Given the description of an element on the screen output the (x, y) to click on. 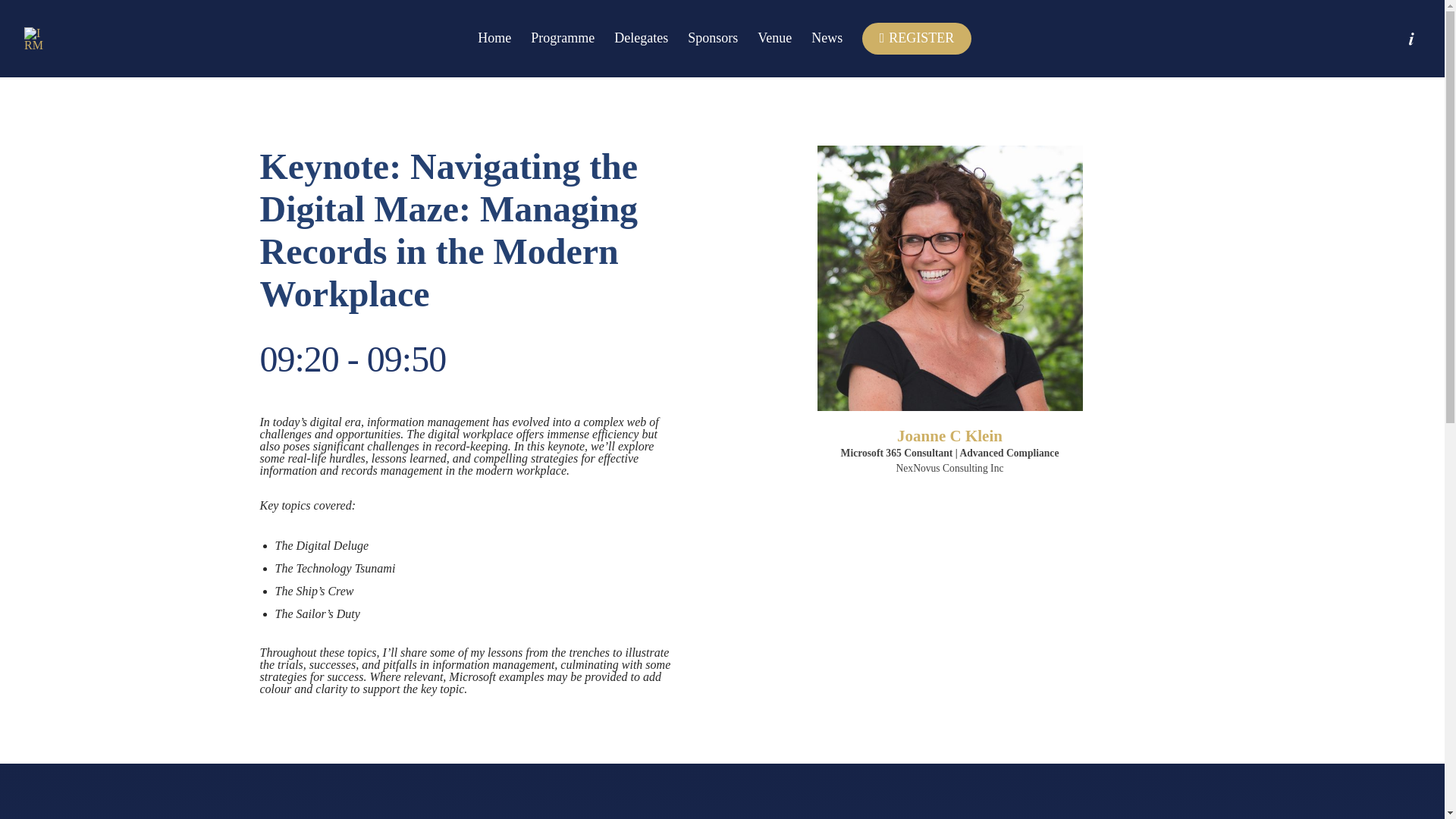
News (826, 38)
REGISTER (916, 38)
Programme (562, 38)
Sponsors (712, 38)
Delegates (641, 38)
Home (494, 38)
Event information (1411, 38)
Venue (774, 38)
